Given the description of an element on the screen output the (x, y) to click on. 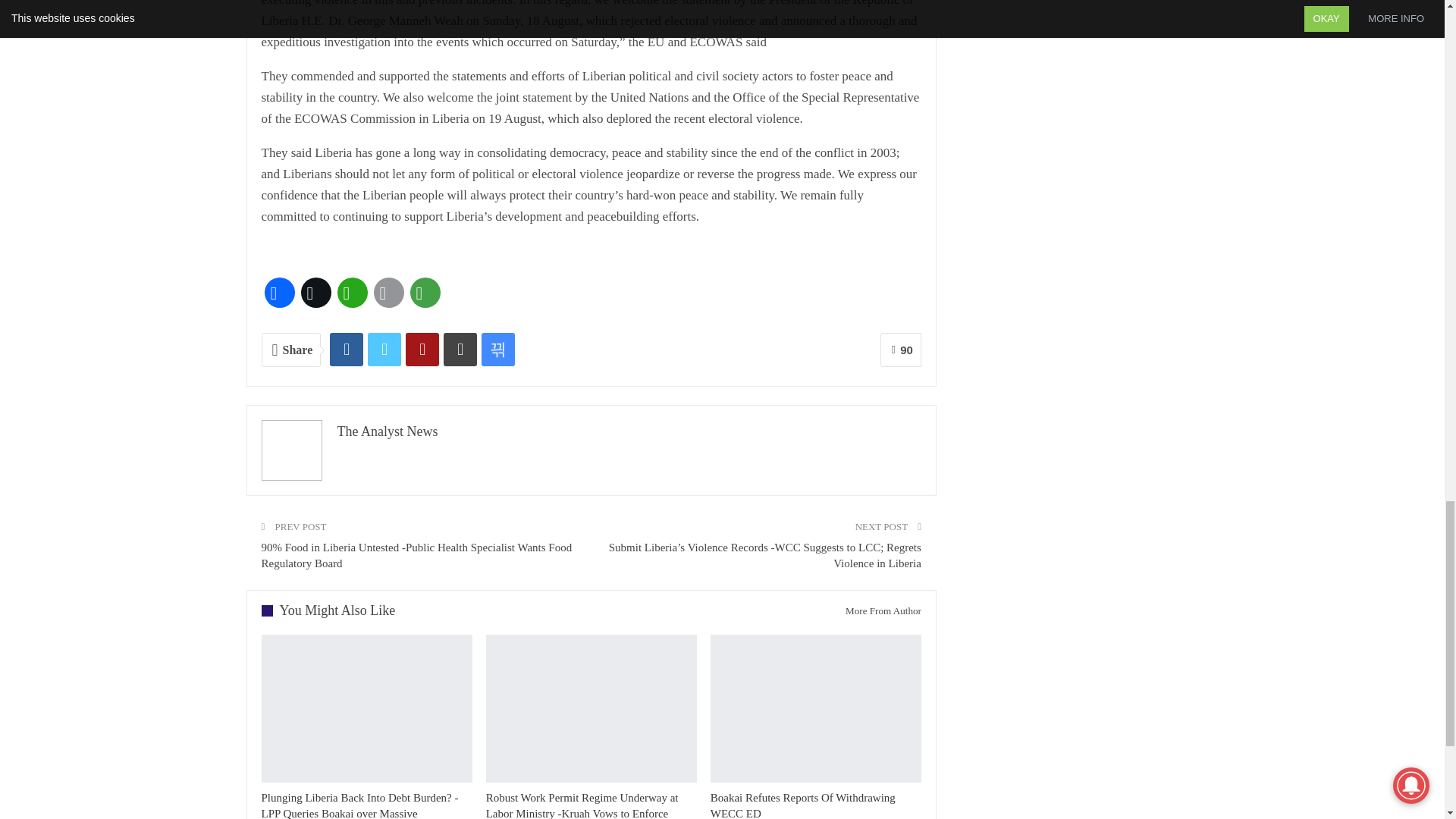
Email This (387, 292)
More Options (424, 292)
WhatsApp (351, 292)
Facebook (278, 292)
